Given the description of an element on the screen output the (x, y) to click on. 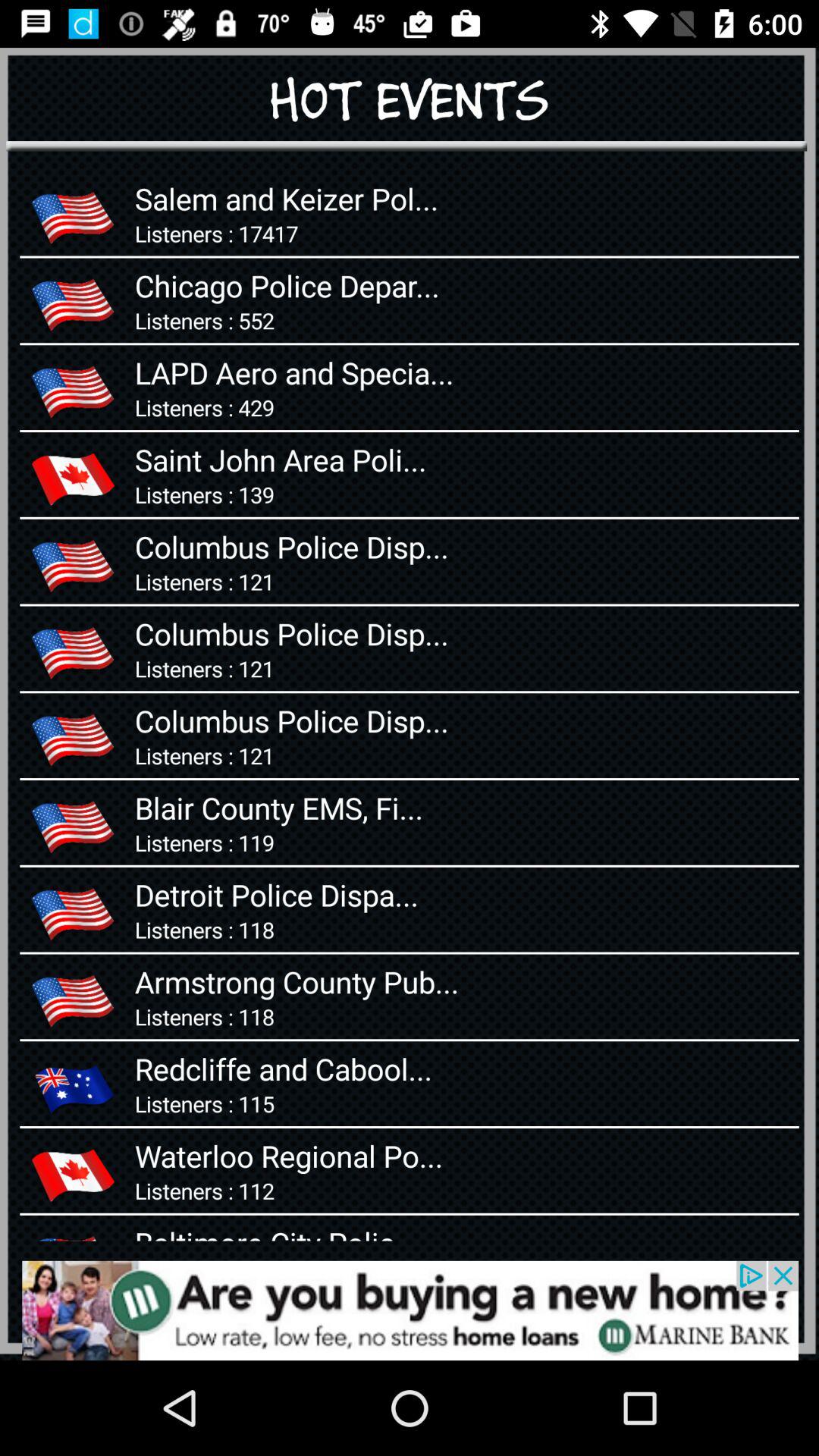
view advertisement (409, 1310)
